Given the description of an element on the screen output the (x, y) to click on. 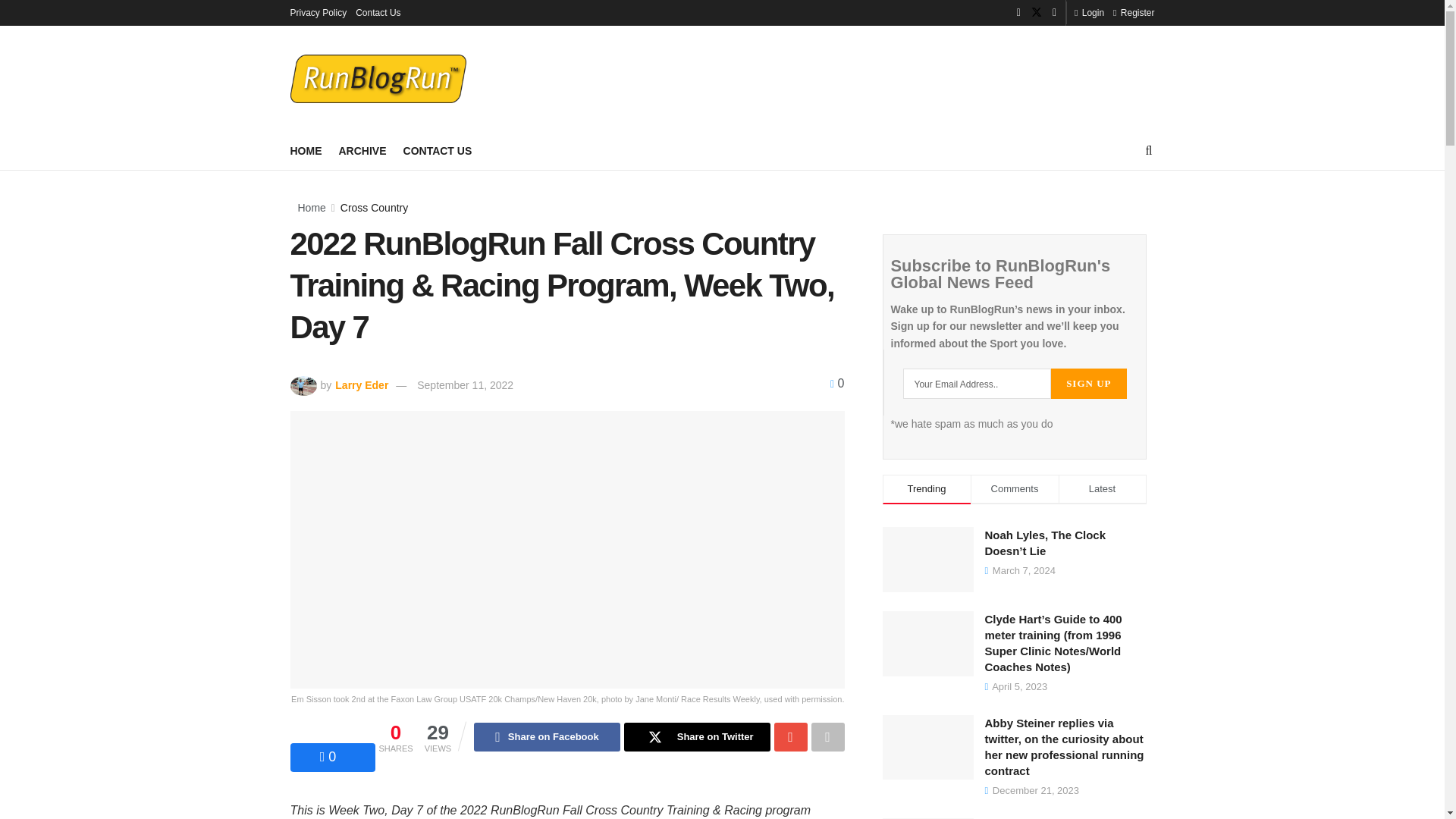
Contact Us (377, 12)
September 11, 2022 (464, 385)
Login (1088, 12)
Cross Country (373, 207)
ARCHIVE (361, 150)
0 (836, 382)
Share on Facebook (547, 736)
Register (1133, 12)
Privacy Policy (317, 12)
HOME (305, 150)
Home (310, 207)
Share on Twitter (697, 736)
SIGN UP (1088, 383)
Larry Eder (359, 385)
CONTACT US (437, 150)
